Given the description of an element on the screen output the (x, y) to click on. 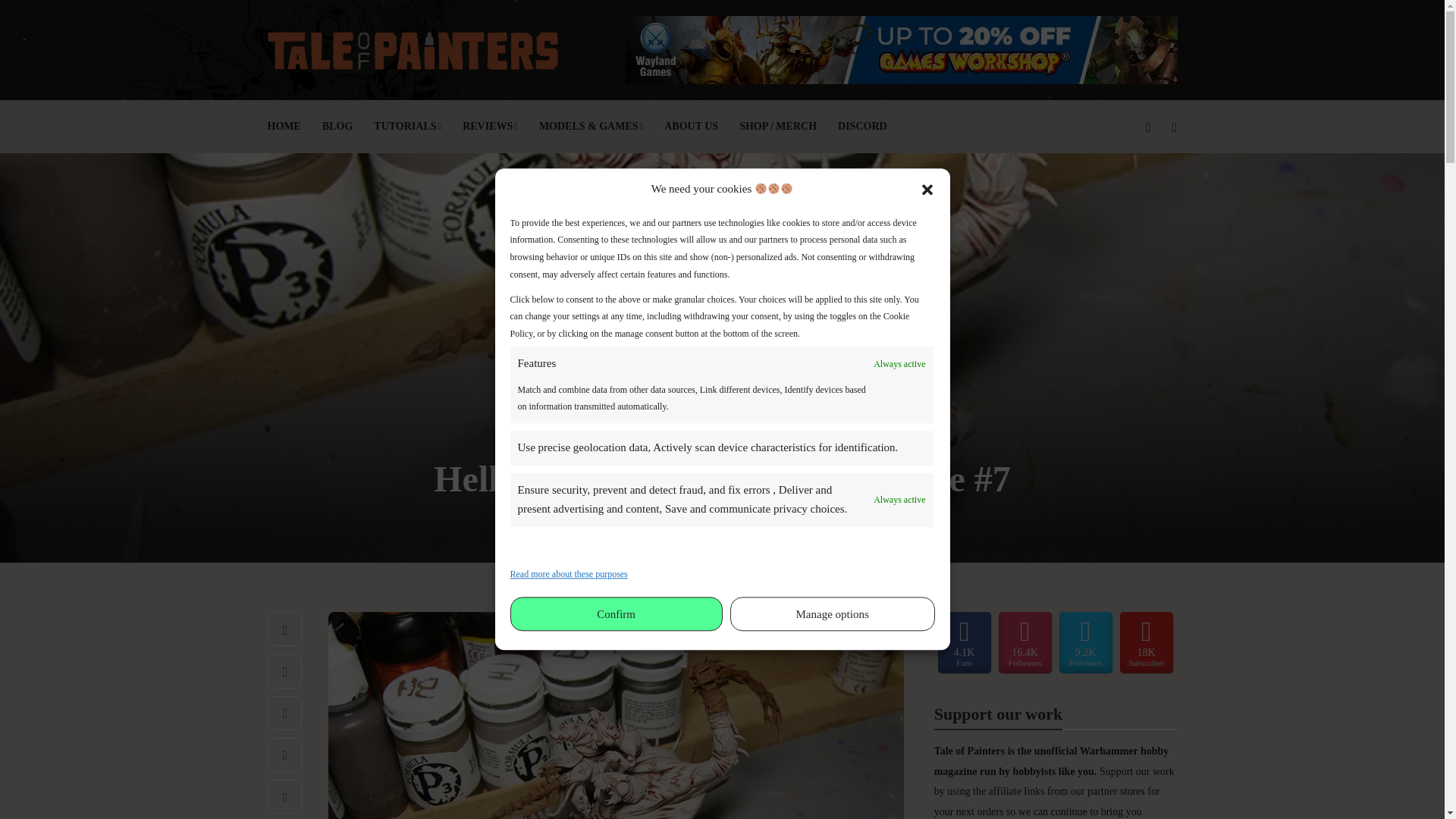
Manage options (832, 614)
Confirm (615, 614)
Read more about these purposes (568, 573)
